Given the description of an element on the screen output the (x, y) to click on. 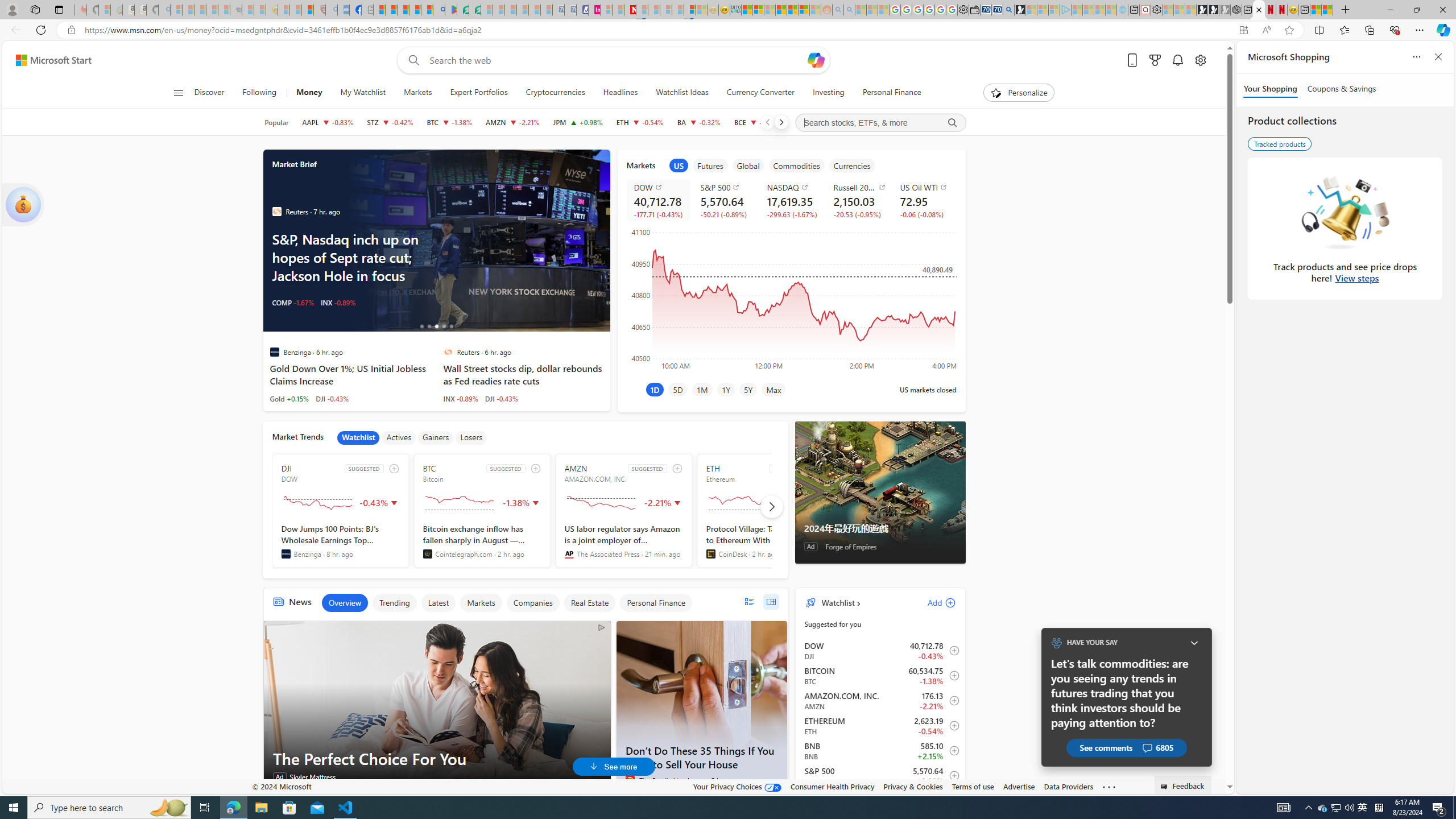
BNB BNB increase 585.10 +12.60 +2.15% item4 (880, 750)
The Associated Press (568, 553)
BTC Bitcoin decrease 60,534.75 -837.20 -1.38% item1 (880, 675)
Headlines (619, 92)
Open navigation menu (177, 92)
14 Common Myths Debunked By Scientific Facts - Sleeping (654, 9)
Money (308, 92)
Gold +0.15% (288, 397)
